Given the description of an element on the screen output the (x, y) to click on. 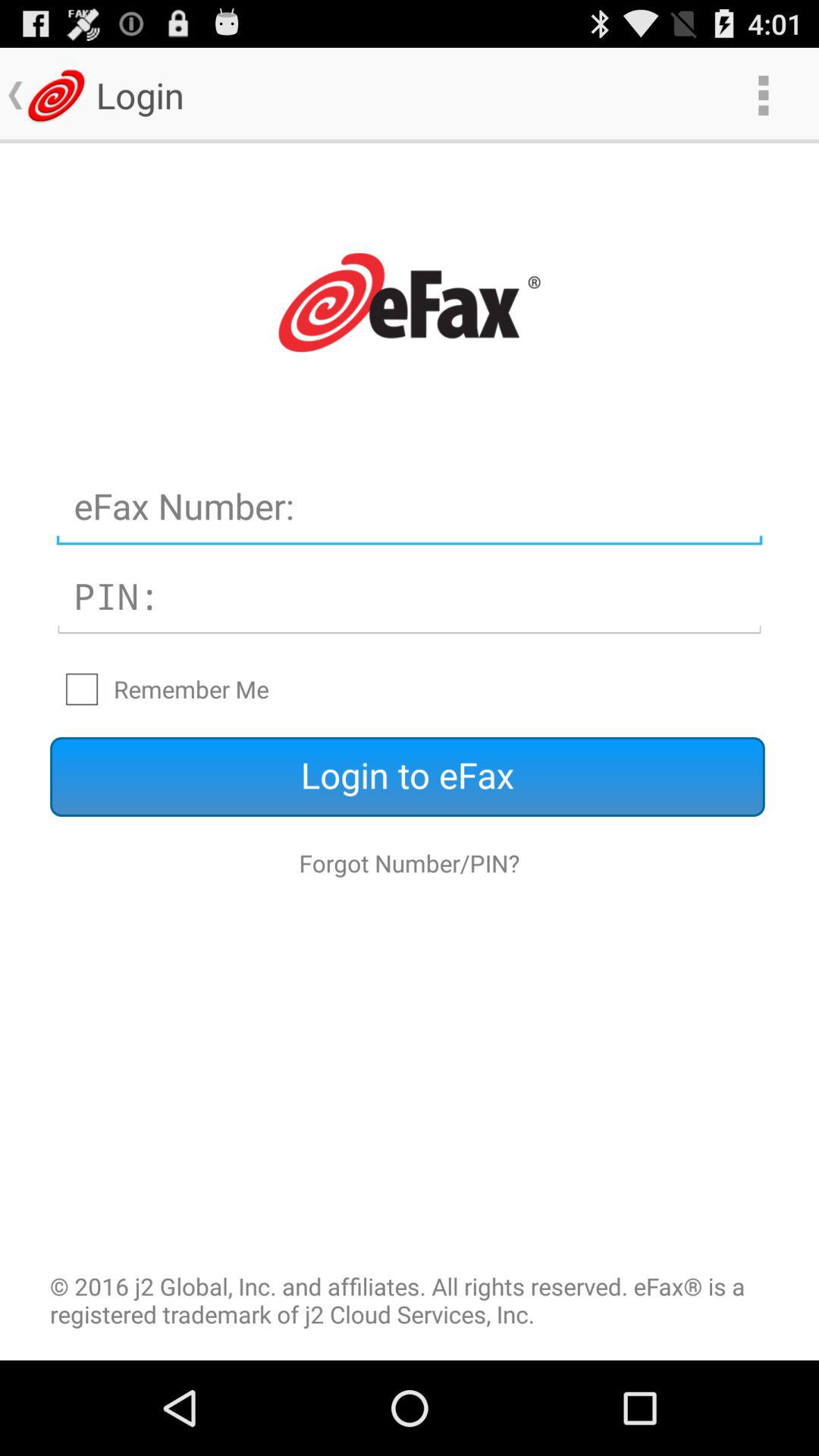
click on the more icon (763, 95)
click the text below the login to efax (409, 863)
click the icon left to the login which is at top of the page (55, 95)
